Given the description of an element on the screen output the (x, y) to click on. 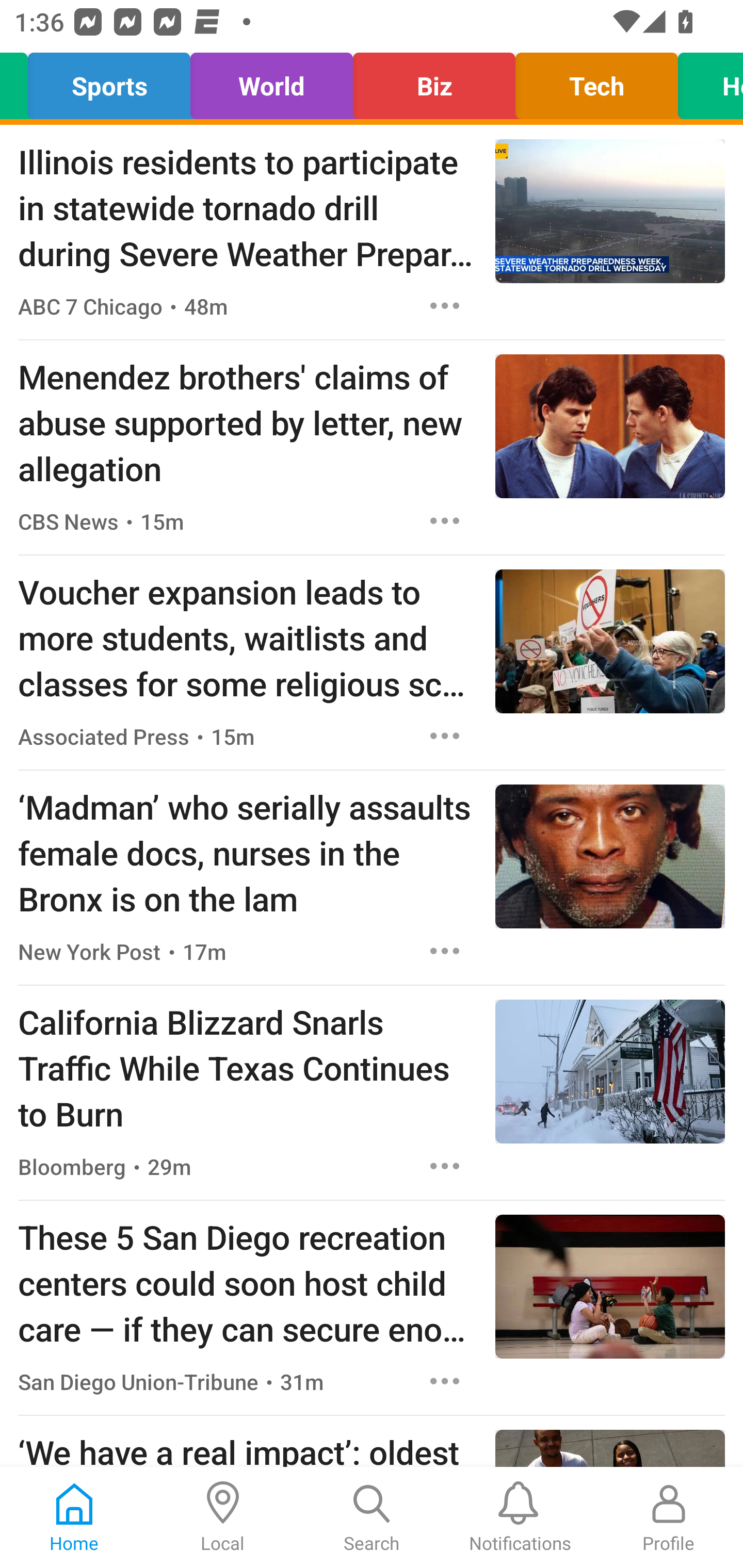
Sports (109, 81)
World (271, 81)
Biz (433, 81)
Tech (596, 81)
Options (444, 305)
Options (444, 520)
Options (444, 736)
Options (444, 950)
Options (444, 1166)
Options (444, 1381)
Local (222, 1517)
Search (371, 1517)
Notifications (519, 1517)
Profile (668, 1517)
